Given the description of an element on the screen output the (x, y) to click on. 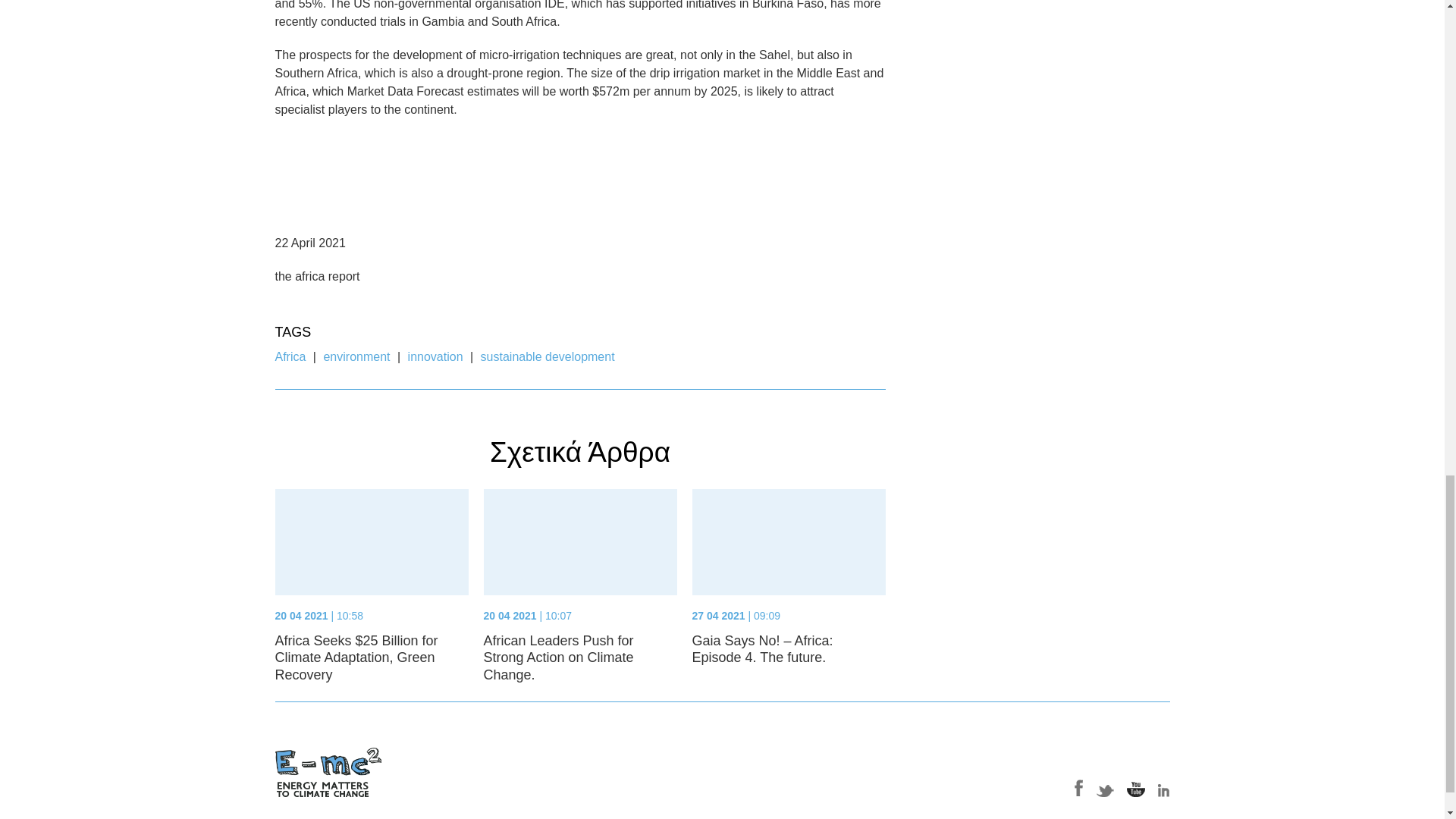
innovation (435, 356)
sustainable development (547, 356)
Follow us on Youtube (1135, 787)
environment (356, 356)
Follow us on Twitter (1105, 787)
Africa (290, 356)
